Given the description of an element on the screen output the (x, y) to click on. 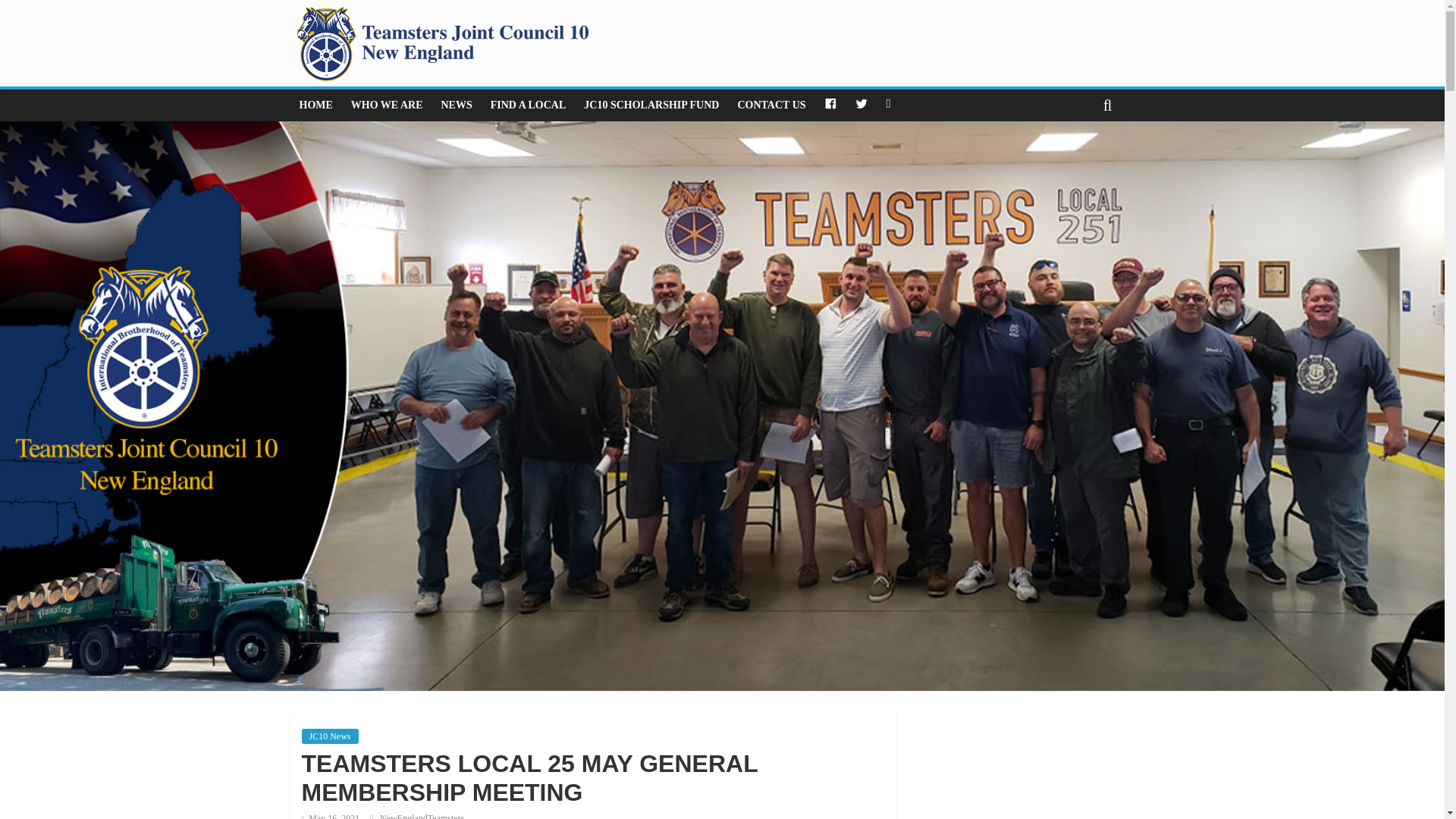
NEWS (456, 105)
HOME (314, 105)
WHO WE ARE (387, 105)
CONTACT US (770, 105)
May 16, 2021 (330, 816)
TWITTER (861, 105)
JC10 SCHOLARSHIP FUND (651, 105)
FIND A LOCAL (528, 105)
NewEnglandTeamsters (422, 816)
JC10 News (329, 735)
